Given the description of an element on the screen output the (x, y) to click on. 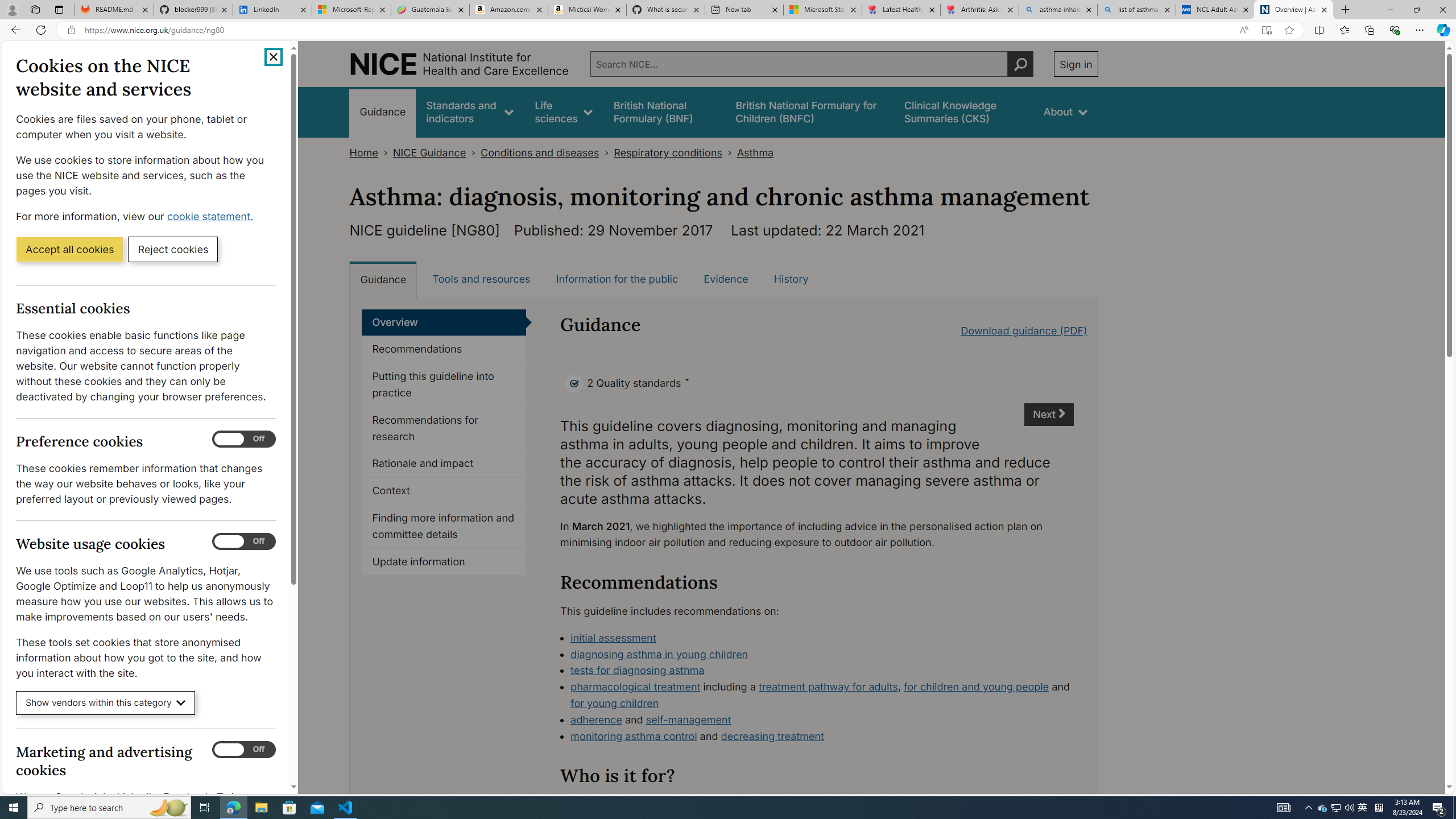
NICE Guidance> (436, 152)
History (790, 279)
pharmacological treatment (635, 686)
self-management (687, 719)
Conditions and diseases> (547, 152)
for young children (614, 702)
diagnosing asthma in young children (822, 654)
initial assessment (613, 637)
